Given the description of an element on the screen output the (x, y) to click on. 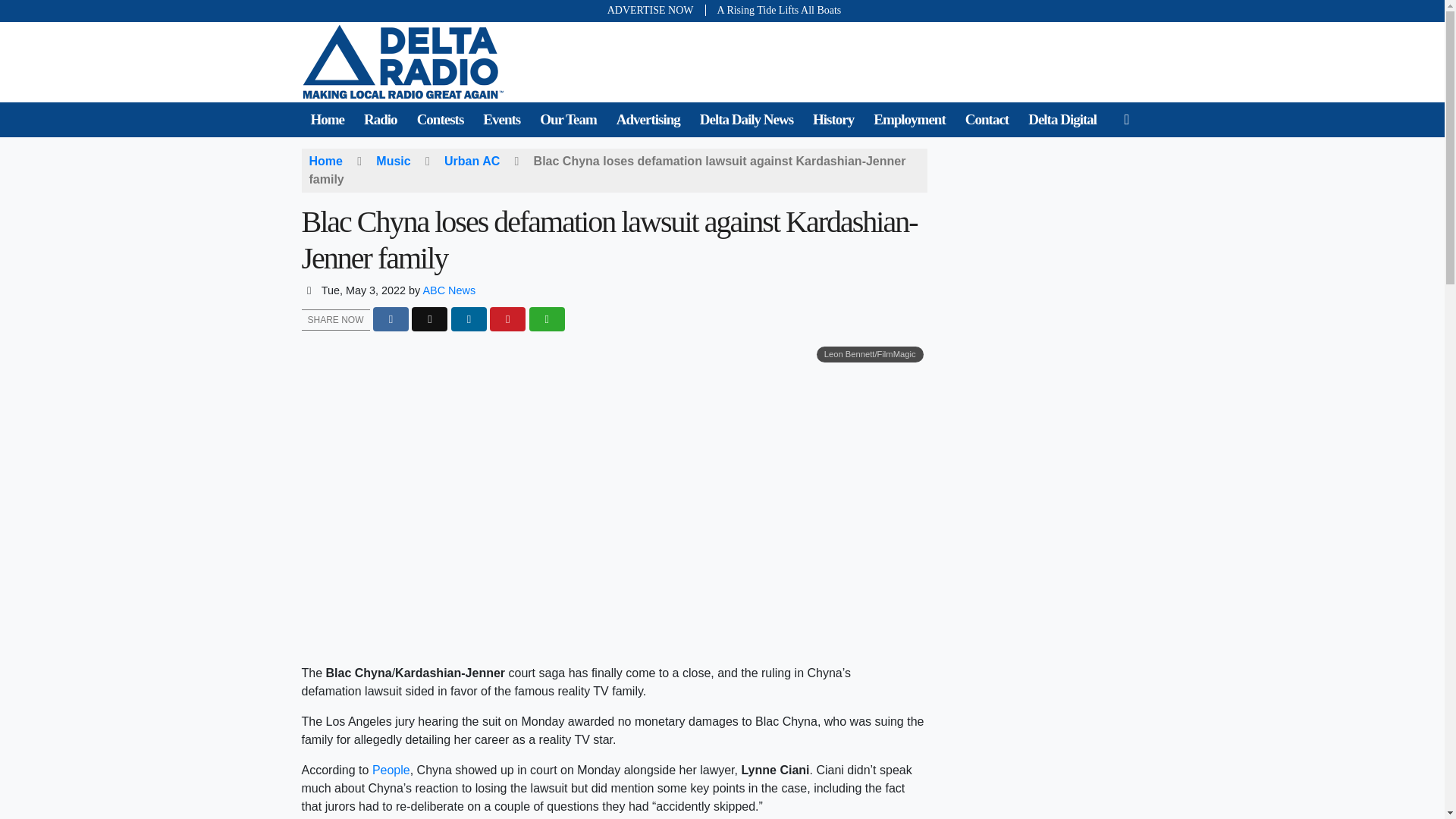
Share to LinkedIn (468, 319)
Share to Pinterest (507, 319)
Share via E-Mail (546, 319)
Share to Facebook (390, 319)
Posts by ABC News (449, 290)
Share to X (429, 319)
